Given the description of an element on the screen output the (x, y) to click on. 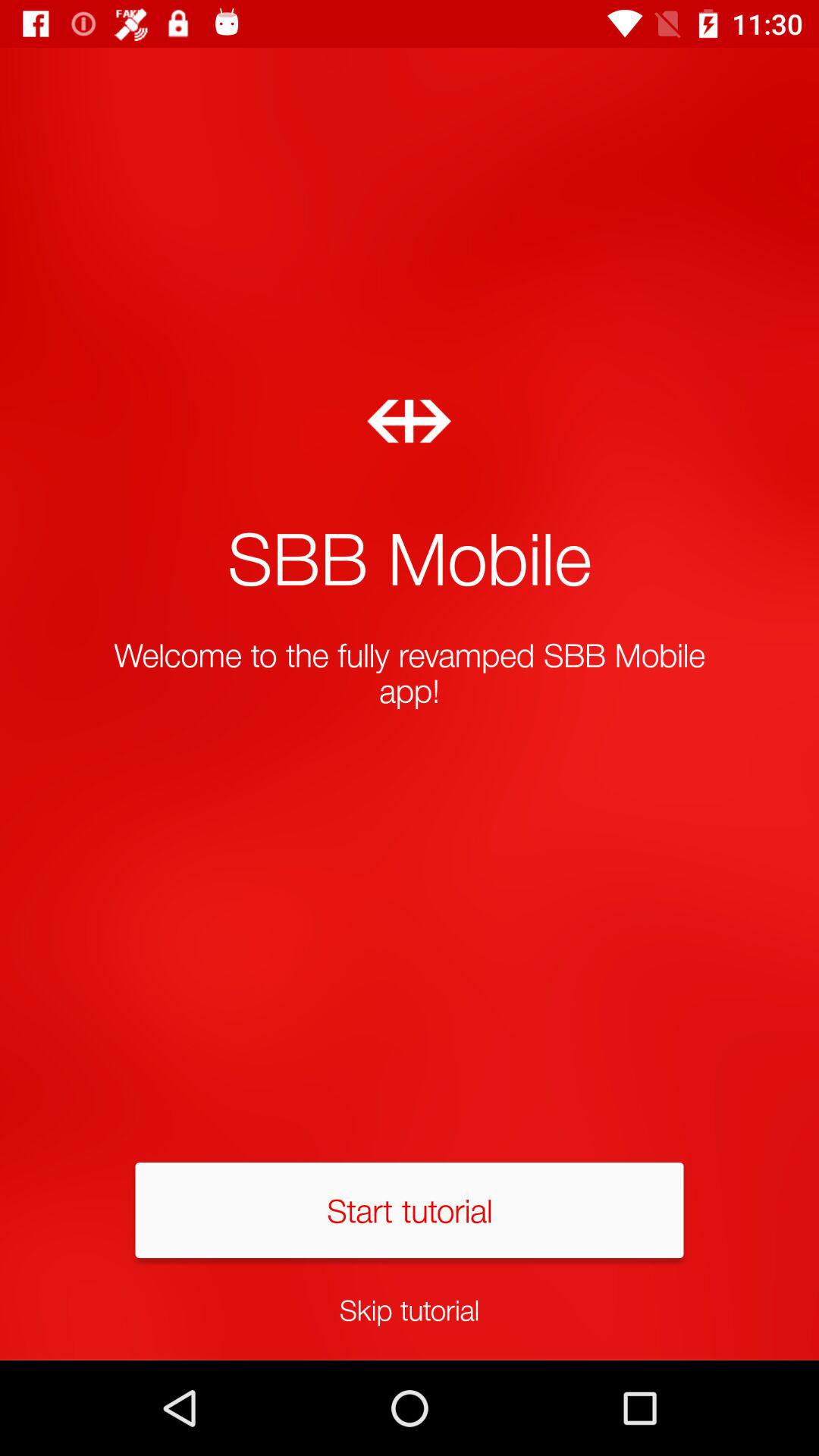
turn off the item below welcome to the icon (409, 1210)
